Given the description of an element on the screen output the (x, y) to click on. 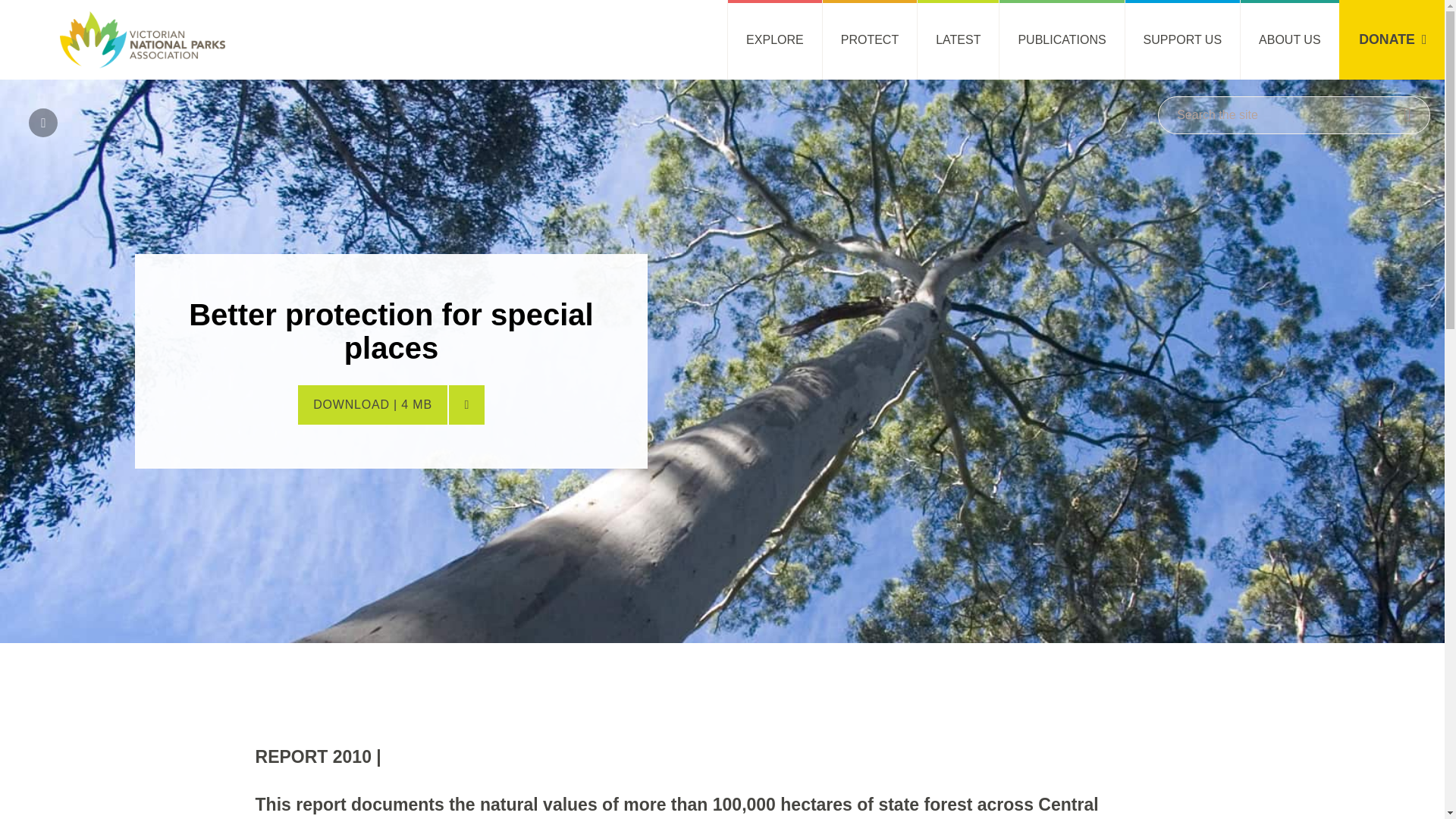
PROTECT (869, 39)
LATEST (957, 39)
PUBLICATIONS (1061, 39)
Search for: (1293, 114)
EXPLORE (774, 39)
